Given the description of an element on the screen output the (x, y) to click on. 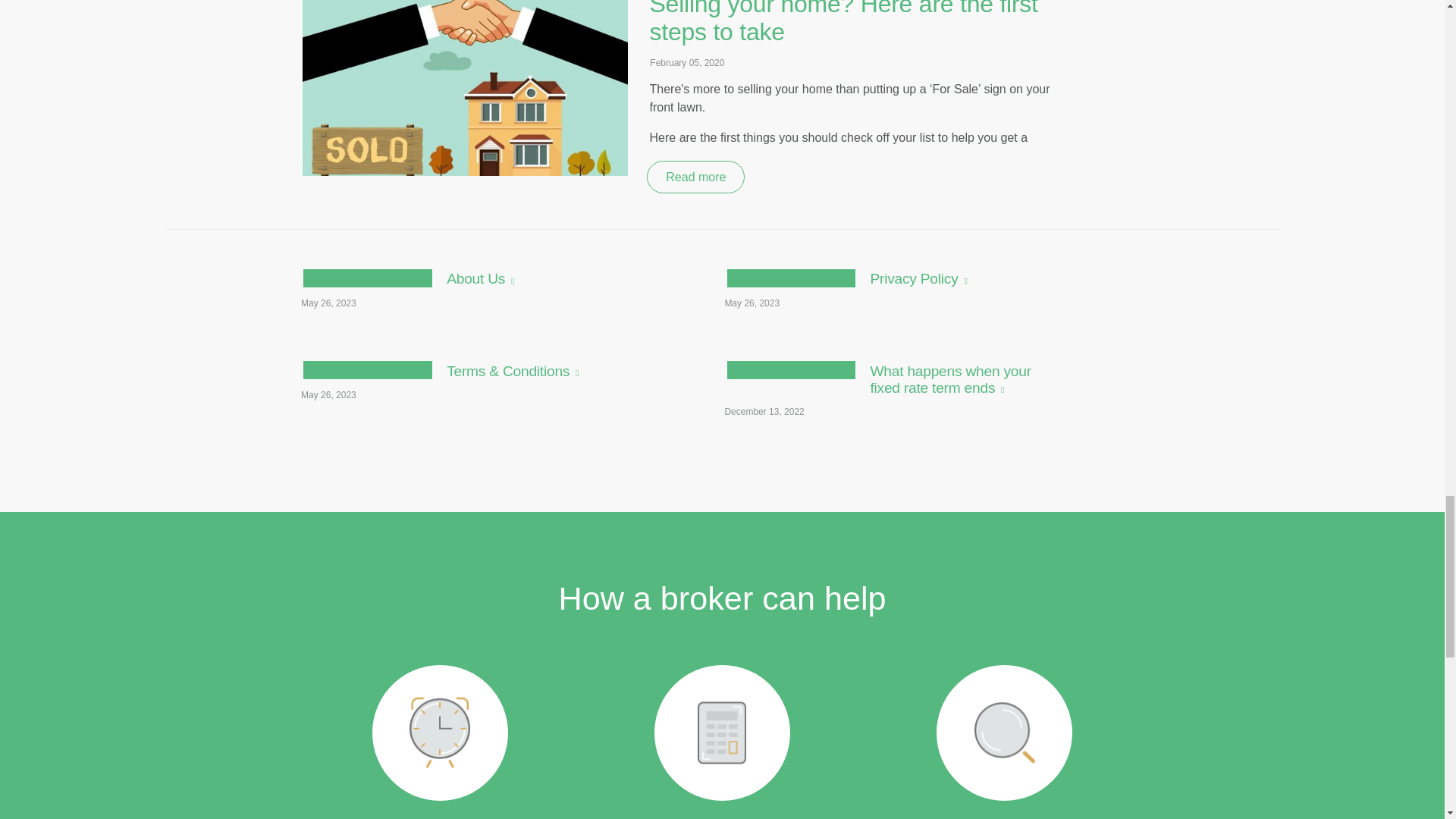
Selling your home? Here are the first steps to take (848, 231)
Read more (467, 507)
